Given the description of an element on the screen output the (x, y) to click on. 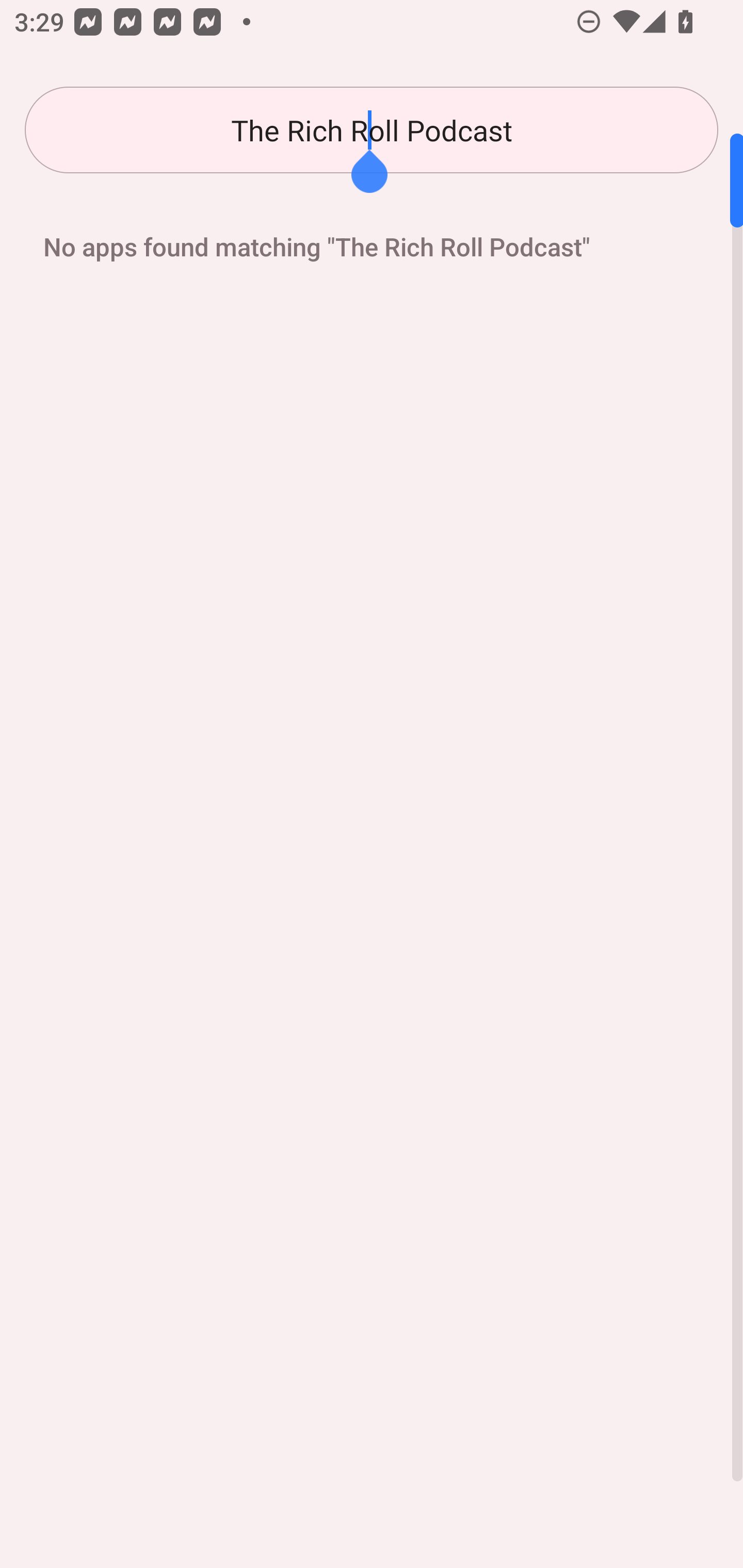
The Rich Roll Podcast (371, 130)
